Given the description of an element on the screen output the (x, y) to click on. 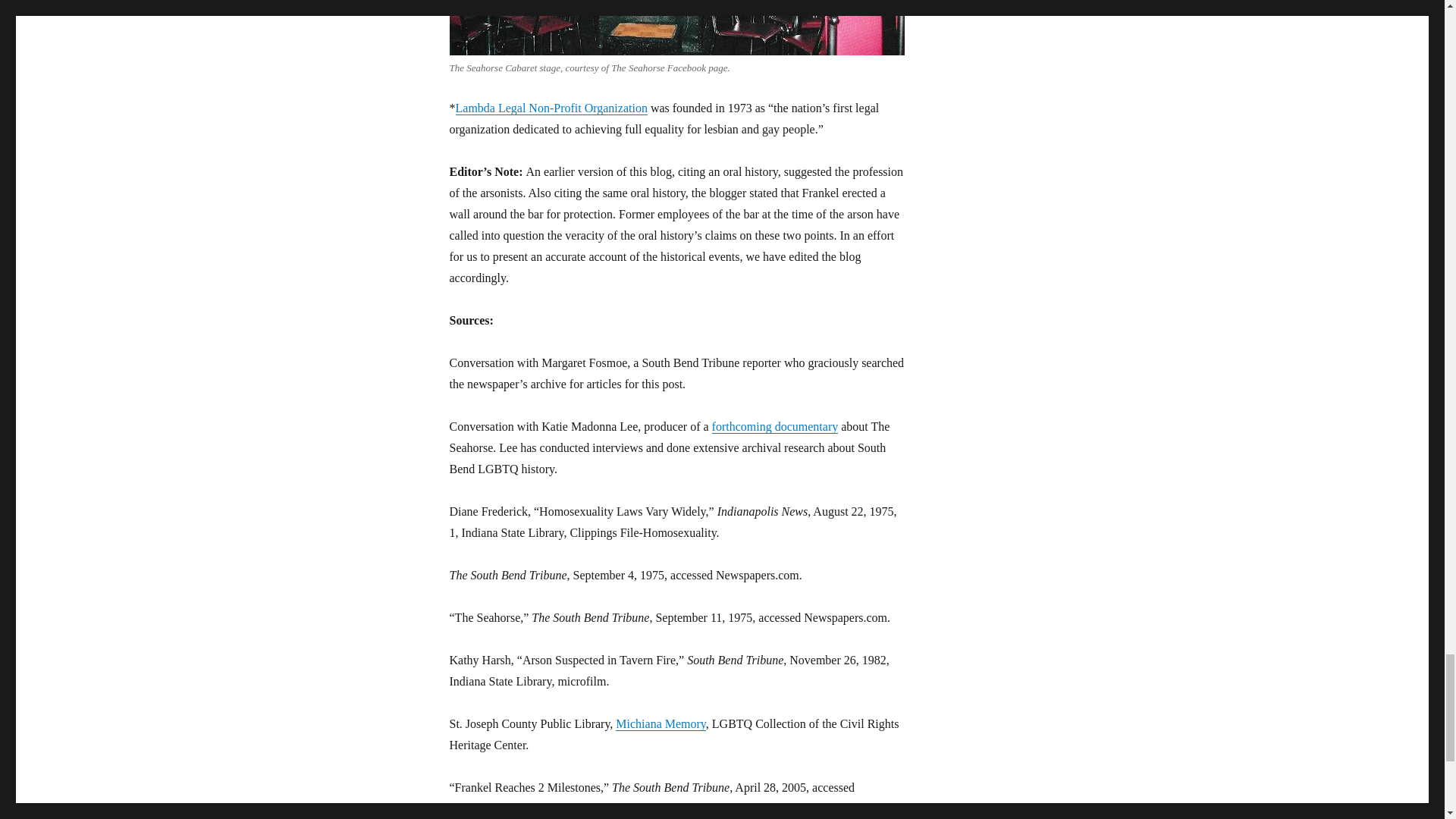
Michiana Memory (659, 723)
Lambda Legal Non-Profit Organization (550, 107)
forthcoming documentary (774, 426)
